Given the description of an element on the screen output the (x, y) to click on. 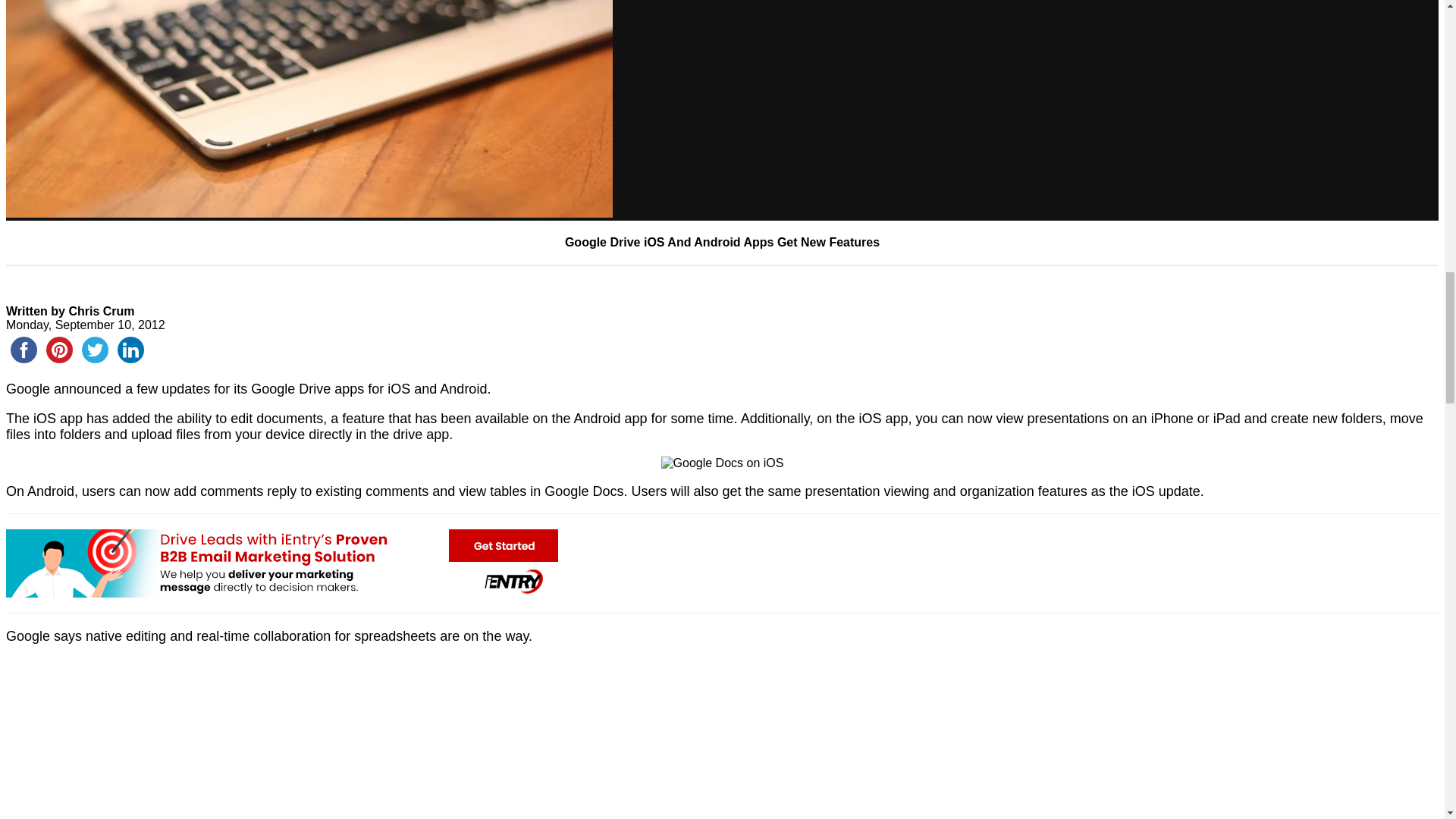
linkedin (130, 349)
facebook (23, 349)
pinterest (59, 349)
twitter (95, 349)
